Given the description of an element on the screen output the (x, y) to click on. 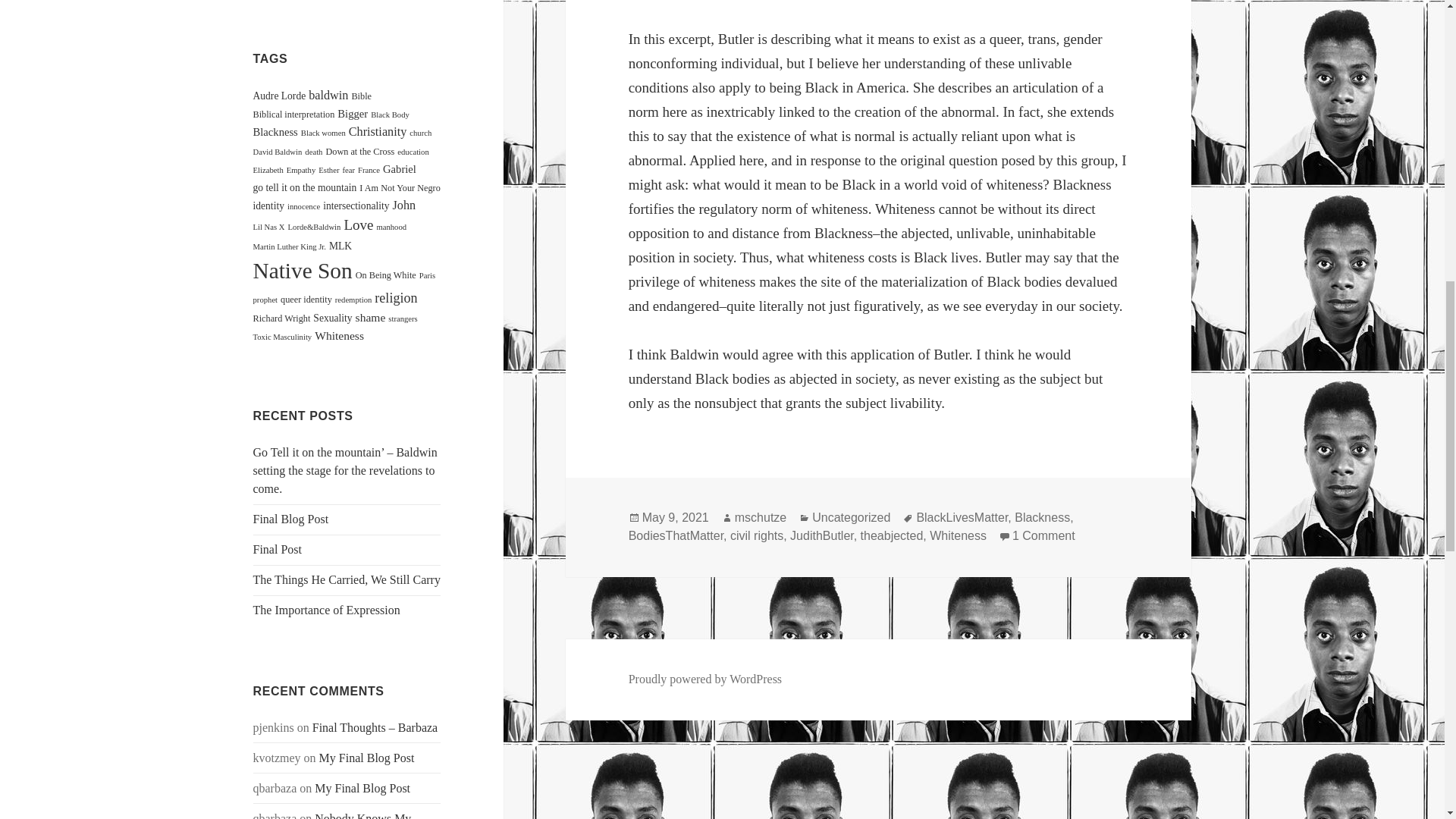
baldwin (327, 95)
education (412, 152)
Empathy (300, 170)
Audre Lorde (279, 95)
identity (268, 205)
Lil Nas X (269, 226)
France (369, 170)
death (312, 152)
fear (348, 170)
Elizabeth (268, 170)
